Given the description of an element on the screen output the (x, y) to click on. 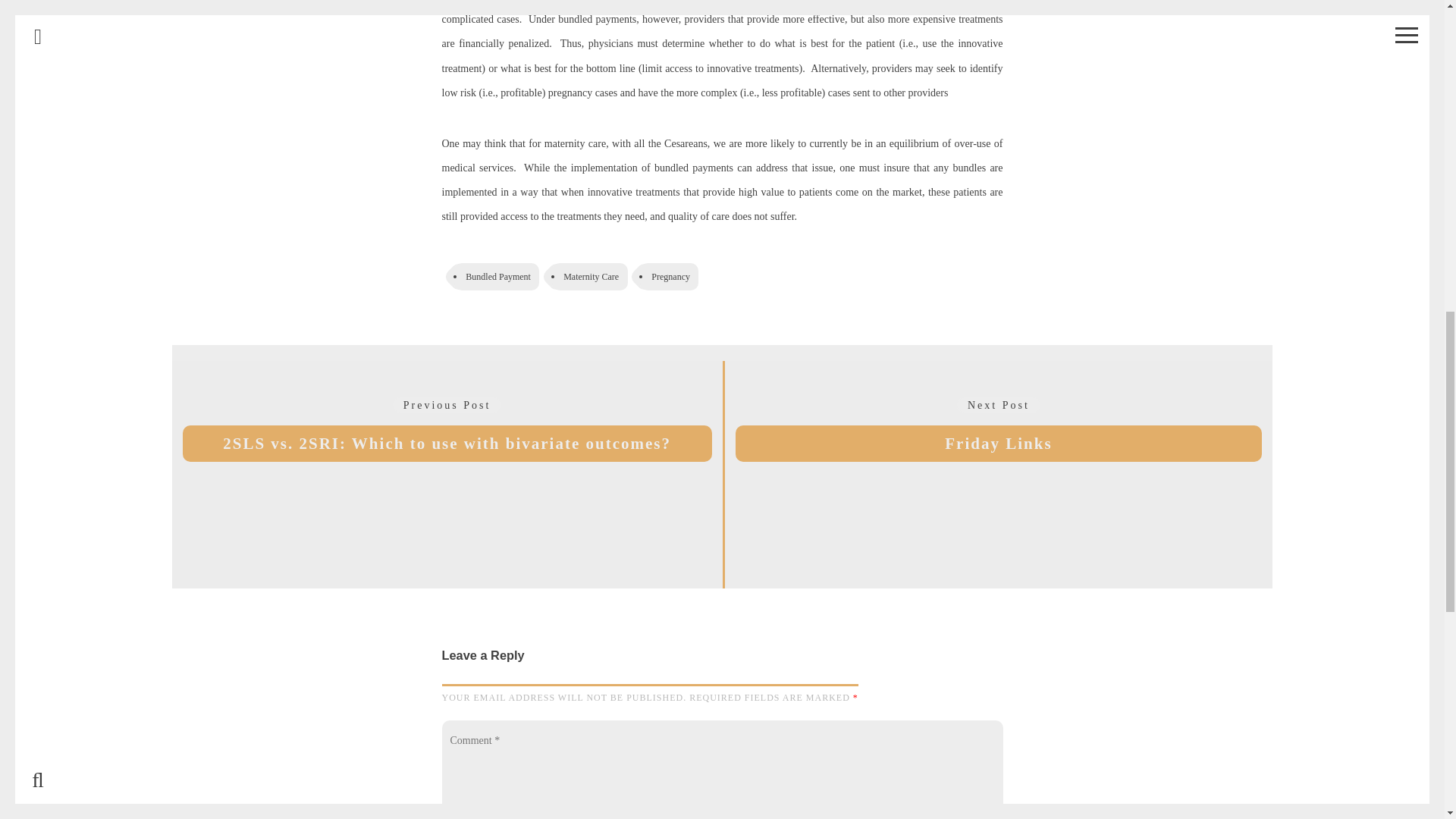
Bundled Payment (496, 276)
Maternity Care (589, 276)
Pregnancy (669, 276)
